Given the description of an element on the screen output the (x, y) to click on. 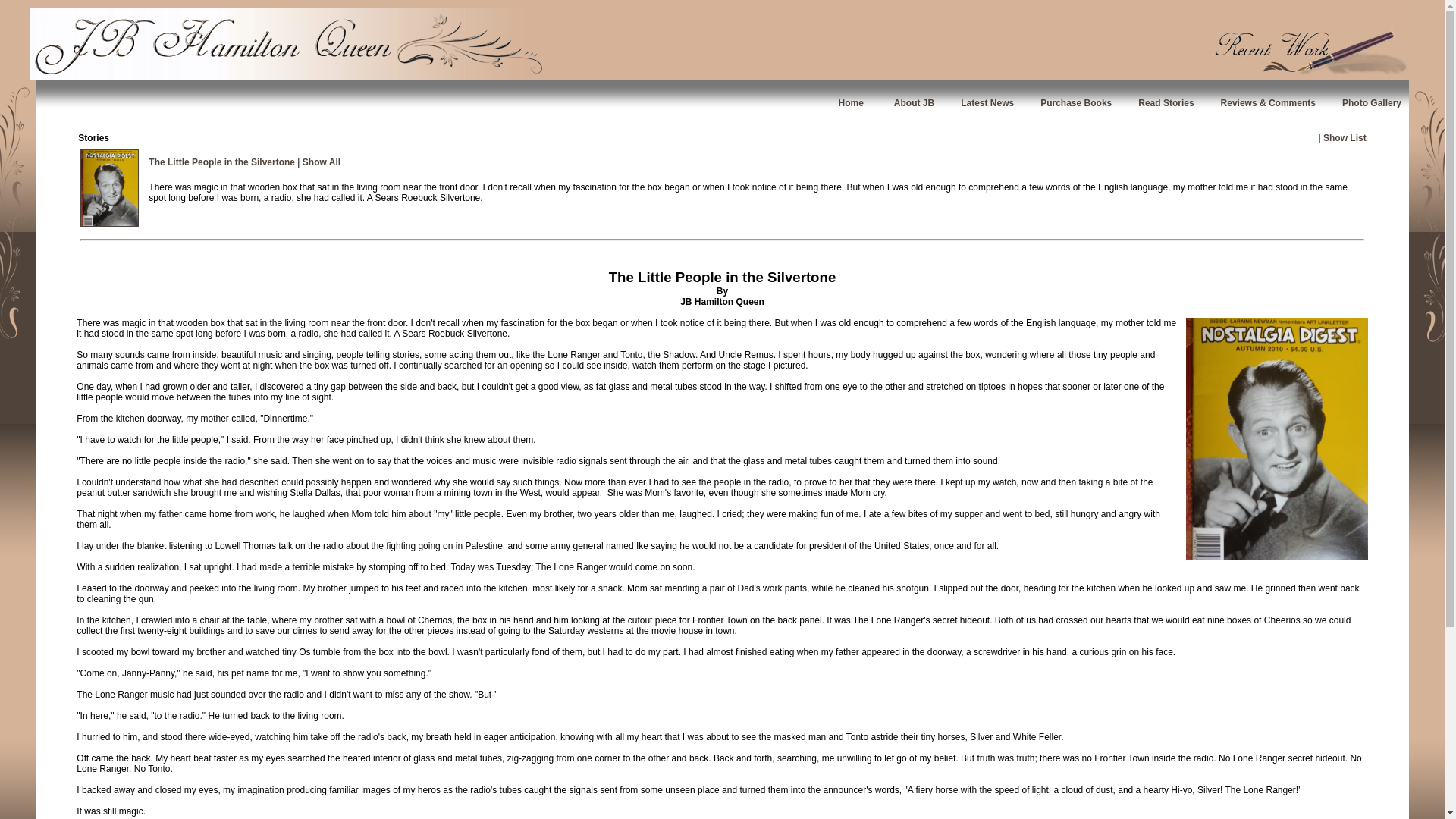
The Little People in the Silvertone (221, 162)
About JB (913, 102)
Latest News (986, 102)
Home (850, 102)
Show All (321, 162)
Read Stories (1165, 102)
Purchase Books (1076, 102)
Photo Gallery (1371, 102)
Show List (1345, 136)
